Given the description of an element on the screen output the (x, y) to click on. 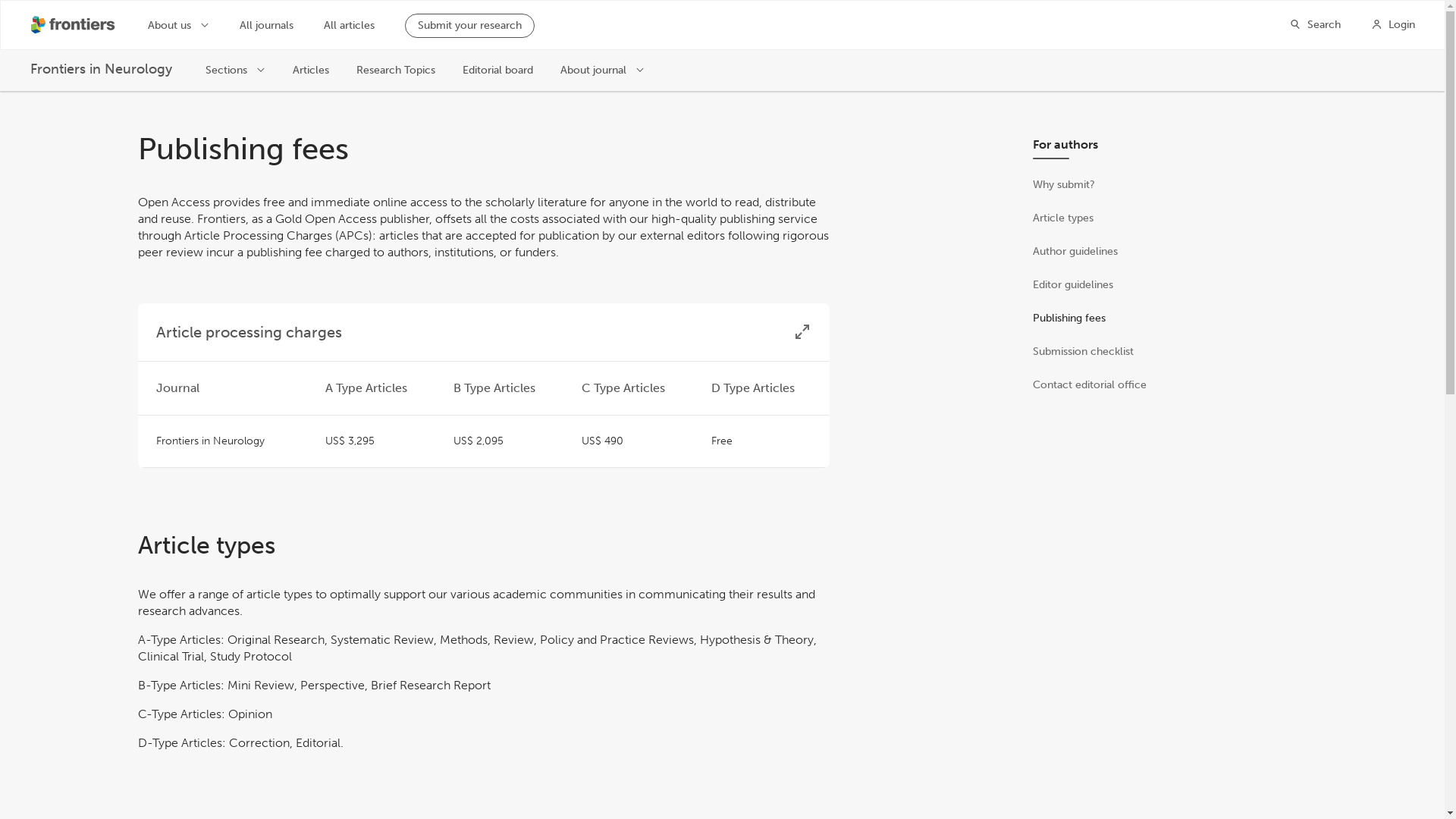
About us (178, 24)
All articles (348, 25)
Login (1393, 24)
Submit your research (469, 25)
Search (1314, 24)
All journals (267, 25)
